Given the description of an element on the screen output the (x, y) to click on. 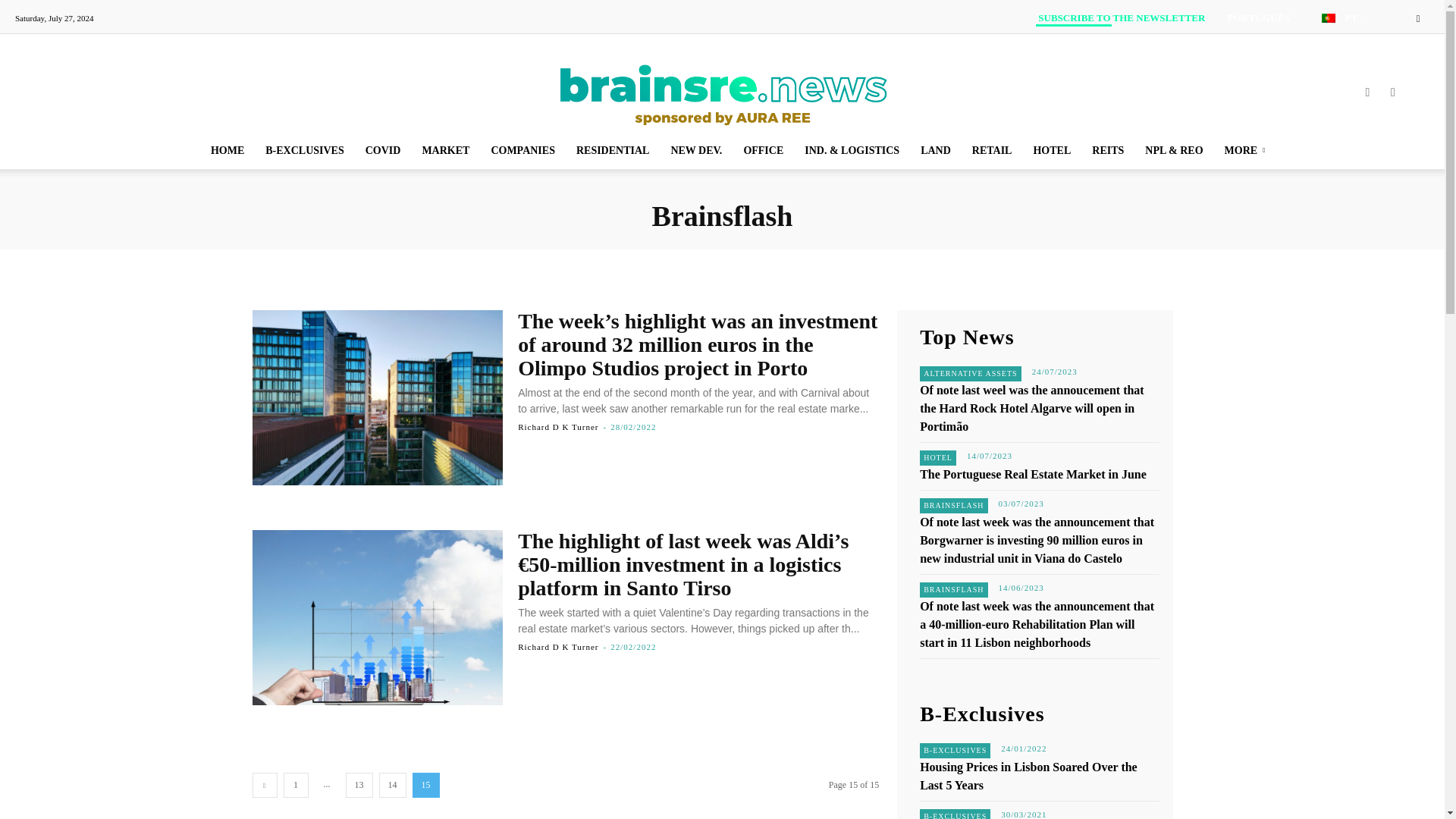
HOME (227, 150)
SUBSCRIBE TO THE NEWSLETTER (1121, 17)
PT (1353, 17)
Coronavirus (383, 150)
New Development (695, 150)
Search (1386, 71)
